Given the description of an element on the screen output the (x, y) to click on. 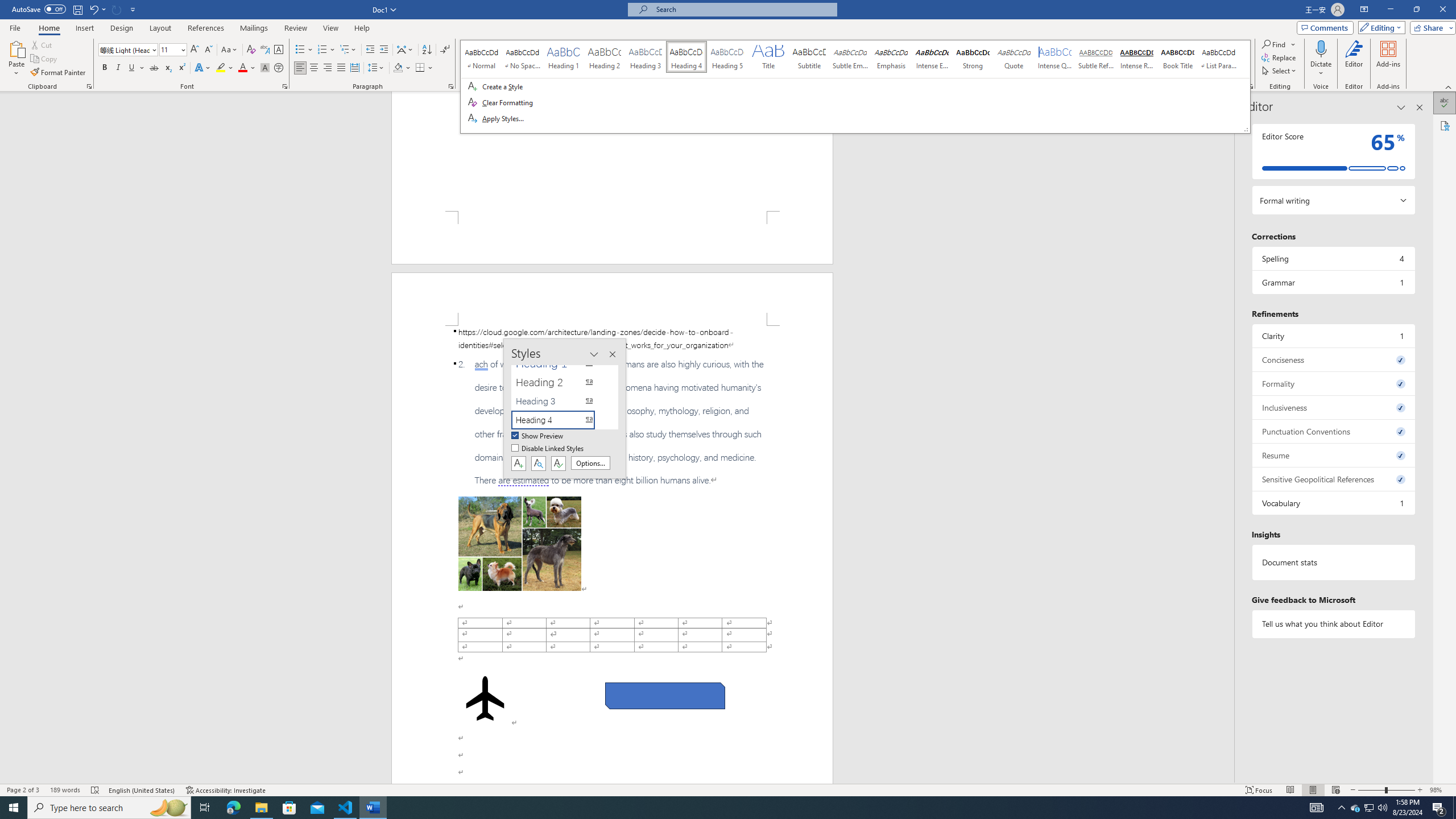
AutomationID: 4105 (1316, 807)
Vocabulary, 1 issue. Press space or enter to review items. (1368, 807)
Start (1333, 502)
Show desktop (13, 807)
